Given the description of an element on the screen output the (x, y) to click on. 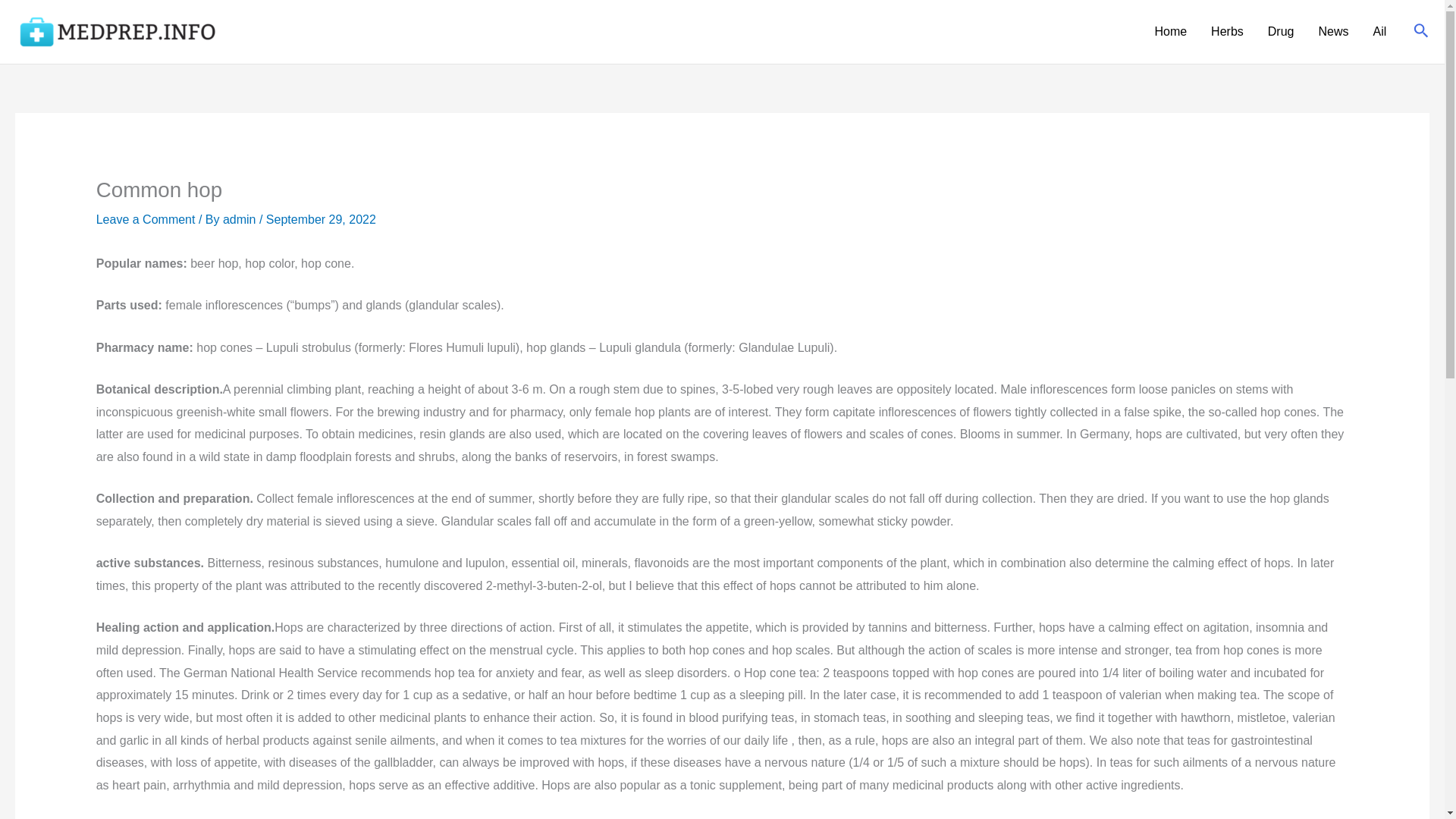
Home (1169, 31)
Leave a Comment (145, 219)
admin (240, 219)
Herbs (1226, 31)
News (1332, 31)
View all posts by admin (240, 219)
